Given the description of an element on the screen output the (x, y) to click on. 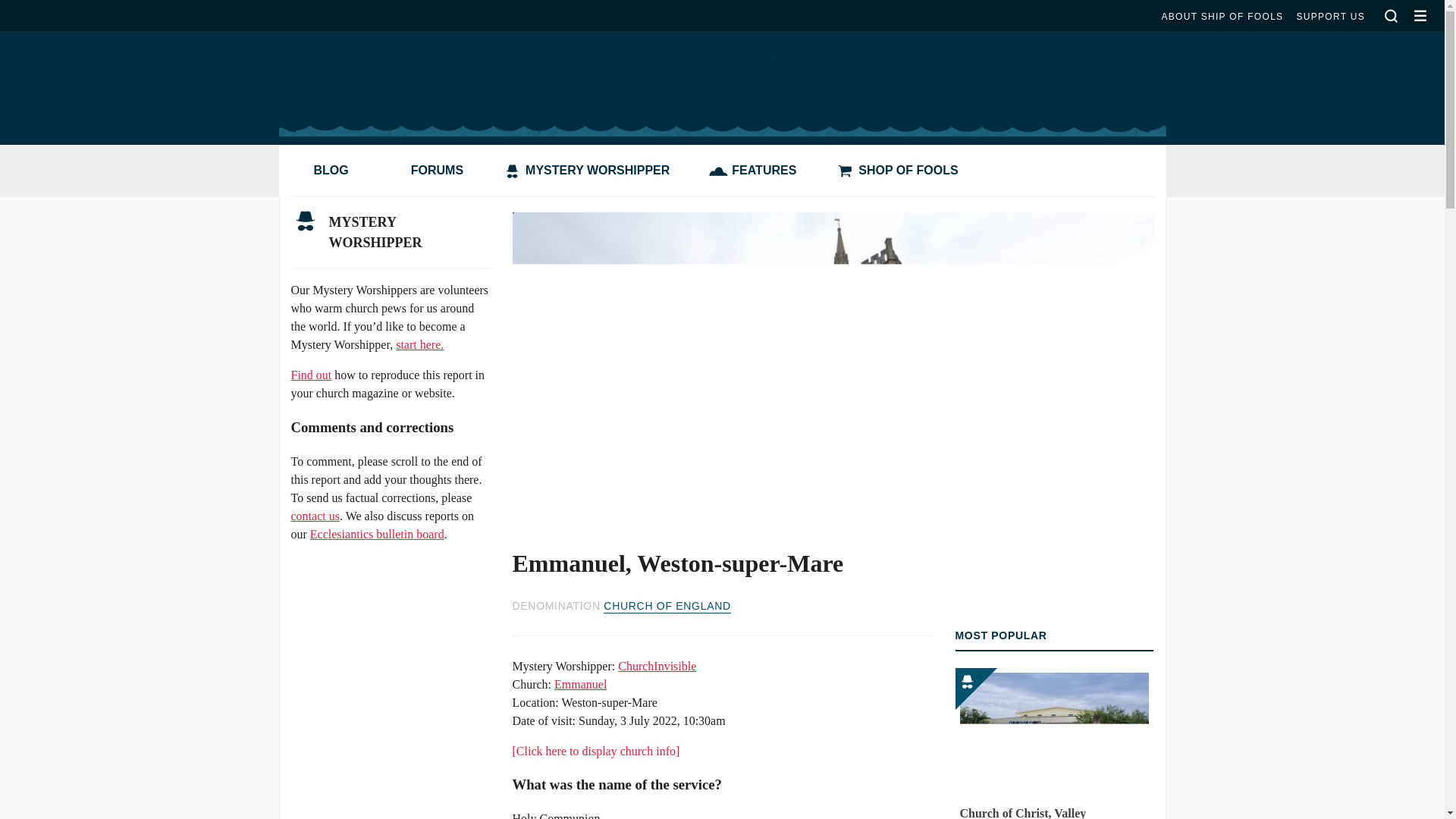
MYSTERY WORSHIPPER (590, 170)
Posts by ChurchInvisible (656, 666)
MYSTERY WORSHIPPER (390, 232)
ChurchInvisible (656, 666)
FORUMS (429, 170)
SHOP OF FOOLS (900, 170)
Ship of Fools (721, 76)
Find out (311, 374)
start here. (420, 344)
FEATURES (756, 170)
SUPPORT US (1330, 16)
Emmanuel (580, 684)
Ecclesiantics bulletin board (377, 533)
Church of Christ, Valley Congregation (1054, 743)
CHURCH OF ENGLAND (667, 606)
